Given the description of an element on the screen output the (x, y) to click on. 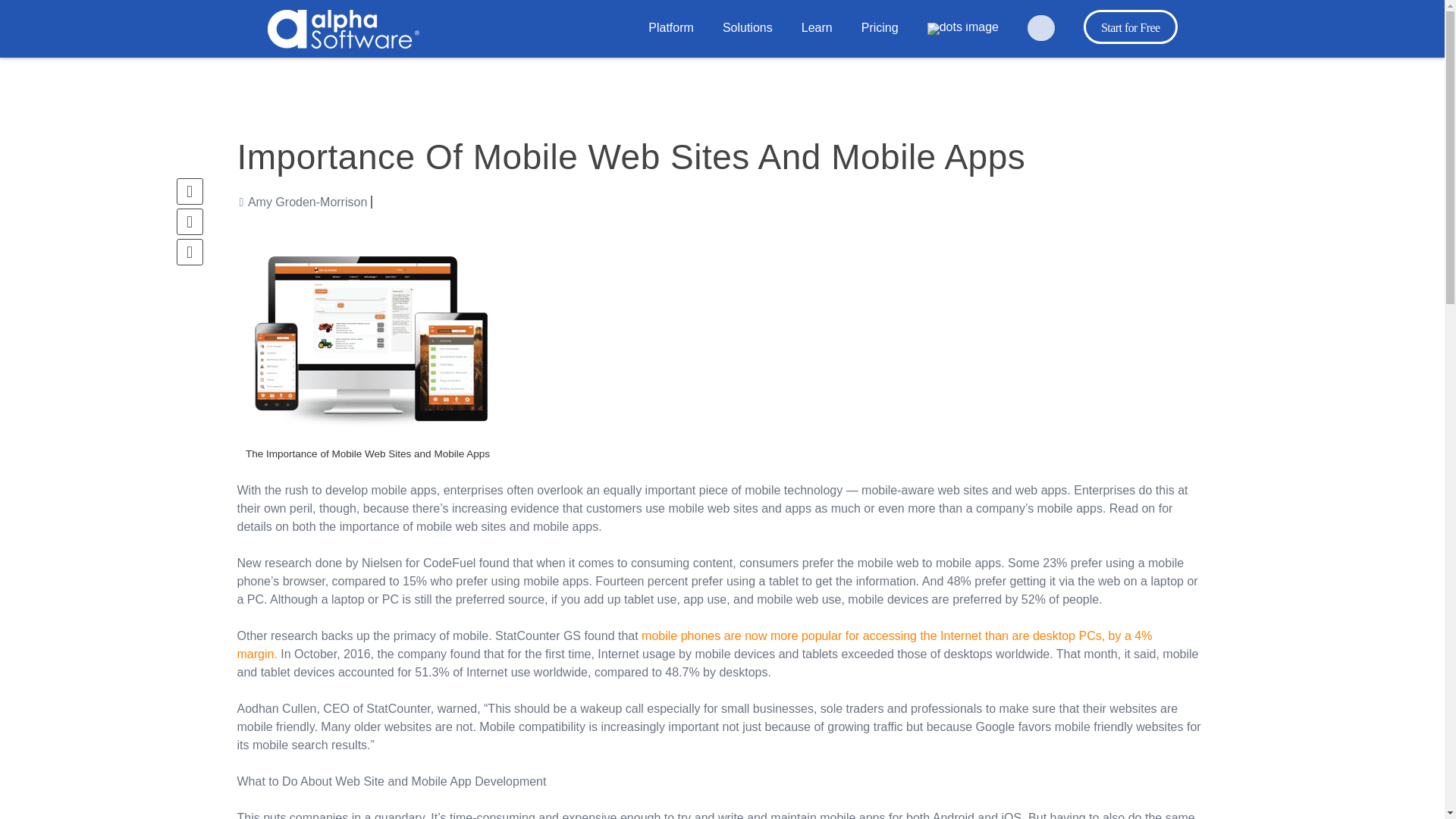
About (483, 63)
START NOW (782, 78)
Learning Center (544, 82)
NO CODE APP BUILDER (521, 63)
Professional Services (968, 82)
Alpha News (694, 72)
Careers (330, 63)
Manufacturing (525, 63)
White Papers (603, 72)
Case Studies (911, 72)
